Given the description of an element on the screen output the (x, y) to click on. 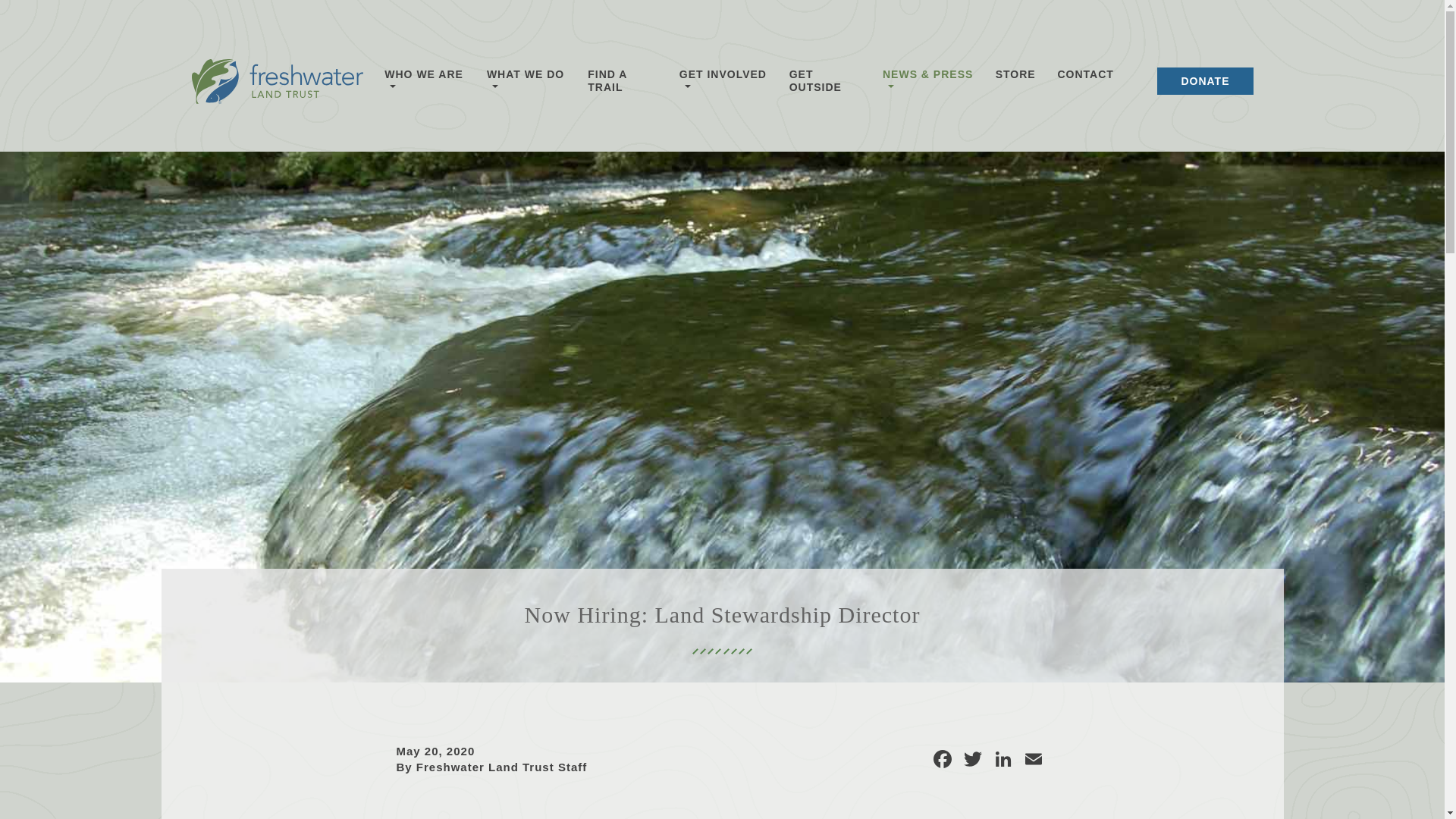
Freshwater Land Trust (276, 84)
Who We Are (424, 84)
WHO WE ARE (424, 84)
WHAT WE DO (526, 84)
GET INVOLVED (723, 84)
GET OUTSIDE (824, 84)
FIND A TRAIL (623, 84)
What We Do (526, 84)
